Given the description of an element on the screen output the (x, y) to click on. 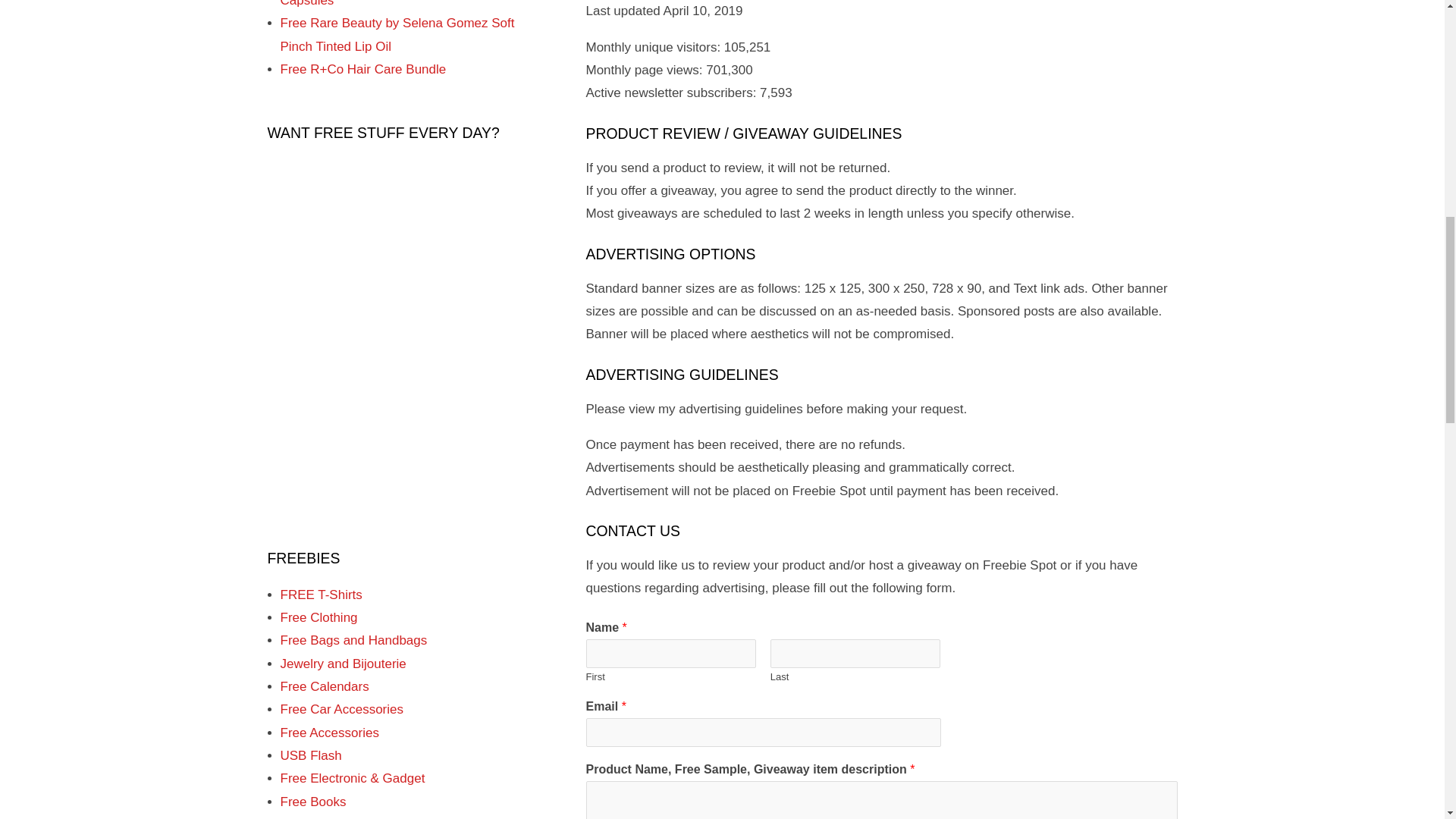
Jewelry and Bijouterie (343, 663)
FREE T-Shirts (321, 594)
USB Flash (311, 755)
Free Bags and Handbags (354, 640)
Free Clothing (319, 617)
Free Car Accessories (342, 708)
Free Bonine Ginger Root Extract Liquid Capsules (393, 3)
Free Books (313, 801)
Free Accessories (329, 732)
Free Calendars (325, 686)
